Given the description of an element on the screen output the (x, y) to click on. 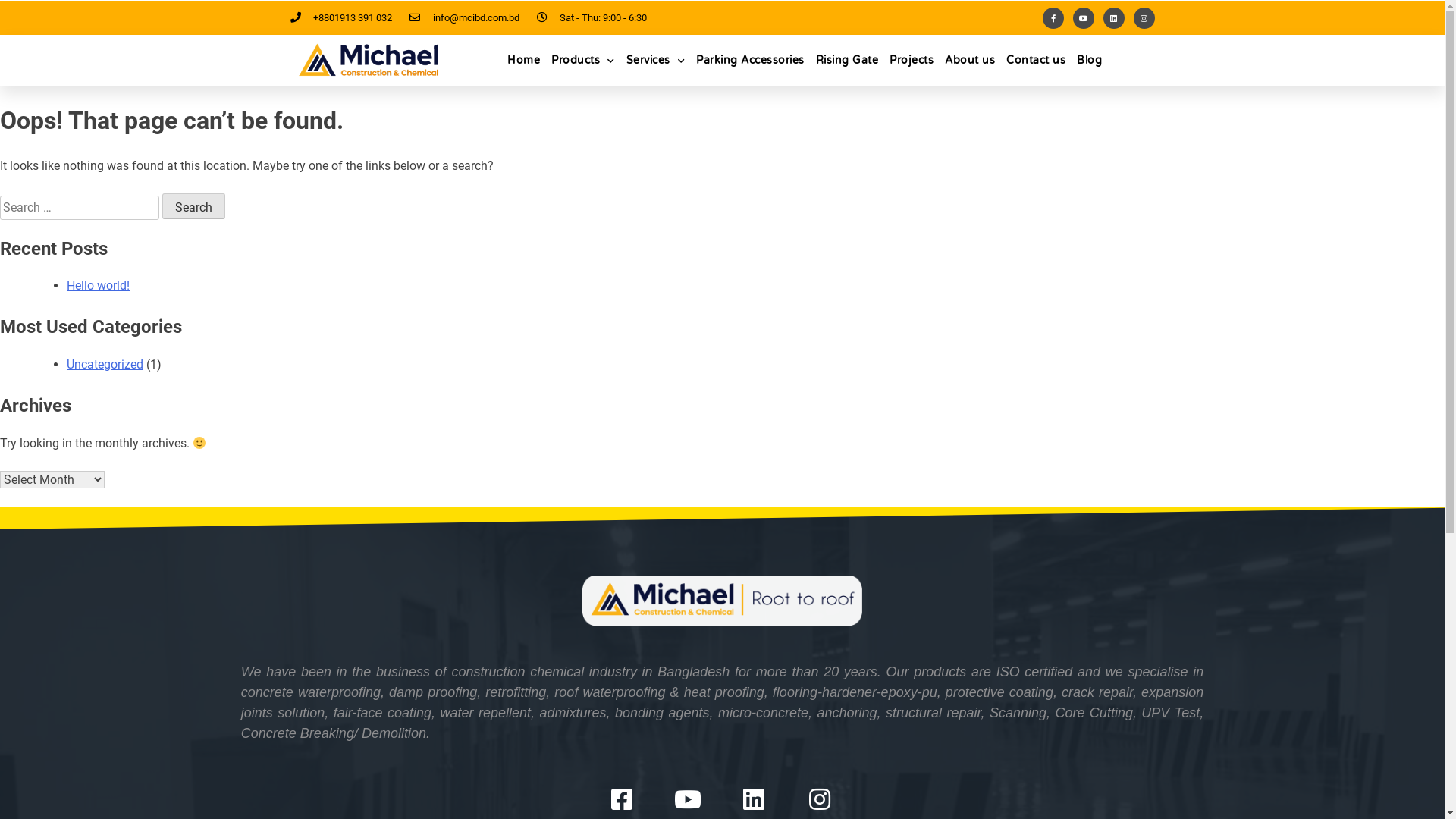
Products Element type: text (583, 60)
Services Element type: text (655, 60)
Rising Gate Element type: text (847, 60)
Blog Element type: text (1089, 60)
Search Element type: text (193, 206)
Contact us Element type: text (1035, 60)
Parking Accessories Element type: text (749, 60)
Uncategorized Element type: text (104, 364)
Projects Element type: text (911, 60)
Home Element type: text (523, 60)
About us Element type: text (969, 60)
Hello world! Element type: text (97, 285)
